Given the description of an element on the screen output the (x, y) to click on. 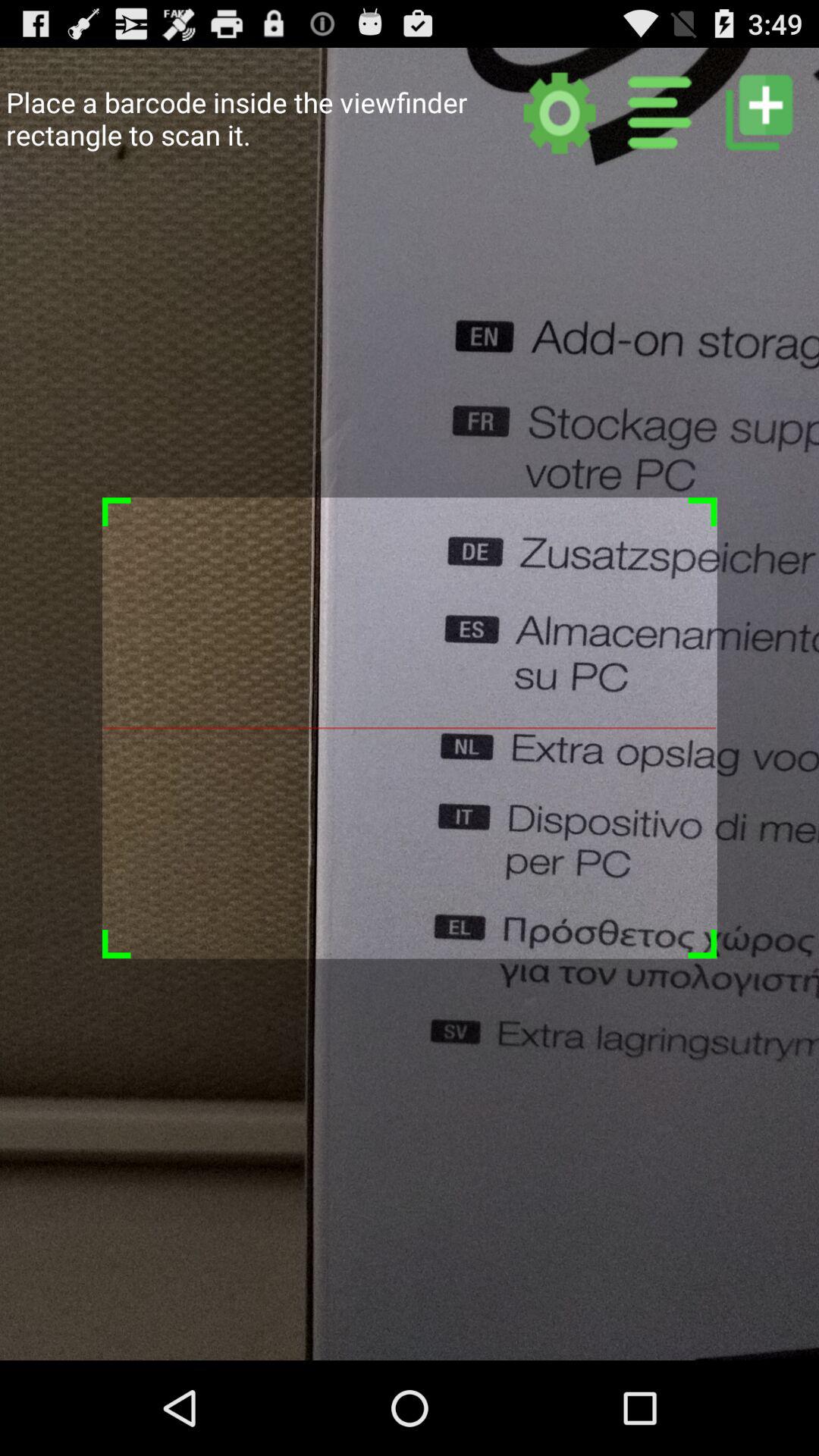
add image (759, 112)
